Given the description of an element on the screen output the (x, y) to click on. 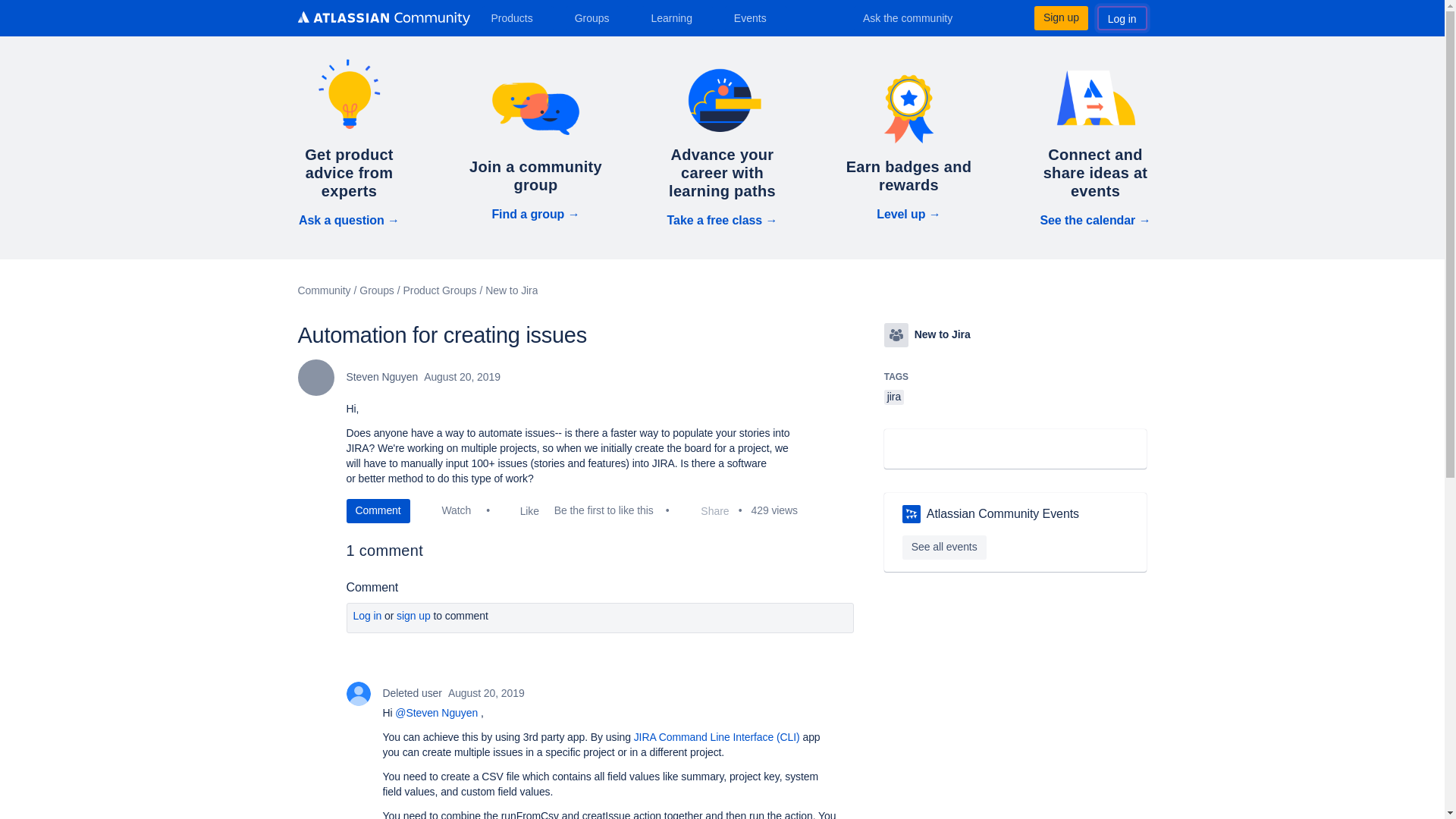
AUG Leaders (911, 514)
Sign up (1060, 17)
Products (517, 17)
groups-icon (895, 334)
Atlassian Community logo (382, 18)
Events (756, 17)
Learning (676, 17)
Steven Nguyen (315, 377)
Groups (598, 17)
Ask the community  (917, 17)
